Given the description of an element on the screen output the (x, y) to click on. 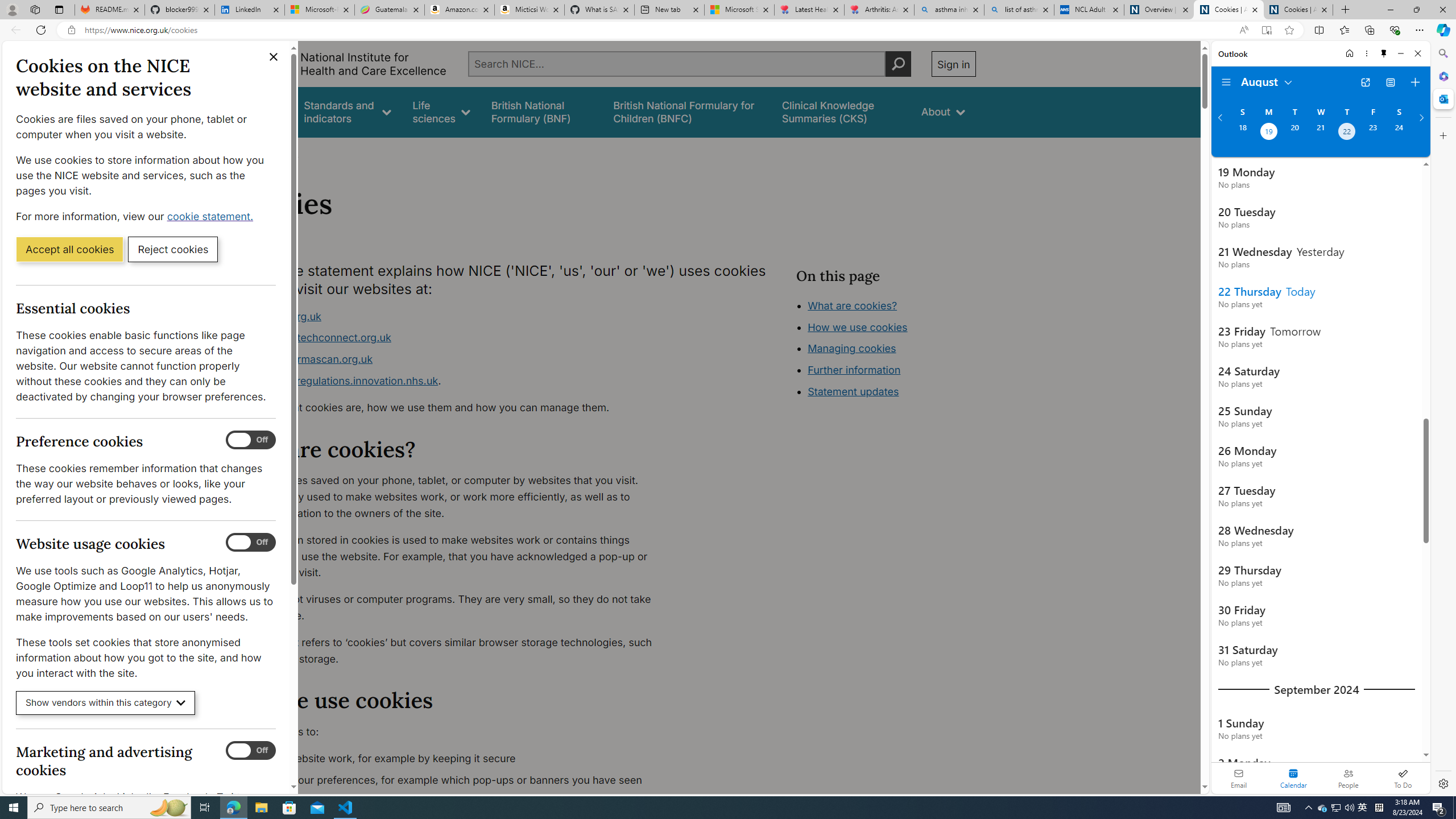
false (841, 111)
Cookies | About | NICE (1297, 9)
www.healthtechconnect.org.uk (314, 337)
Monday, August 19, 2024. Date selected.  (1268, 132)
